Given the description of an element on the screen output the (x, y) to click on. 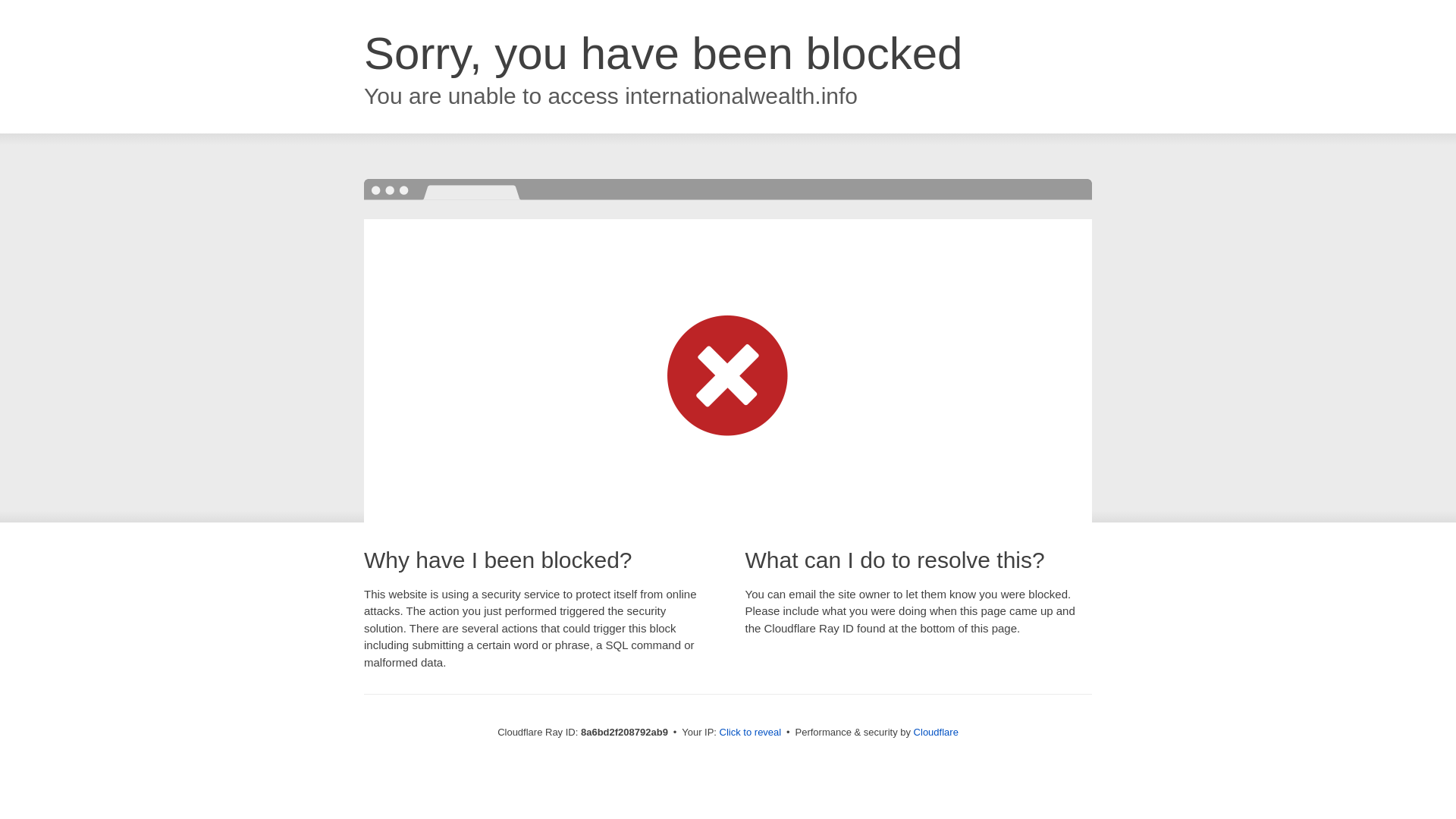
Cloudflare (936, 731)
Click to reveal (750, 732)
